Given the description of an element on the screen output the (x, y) to click on. 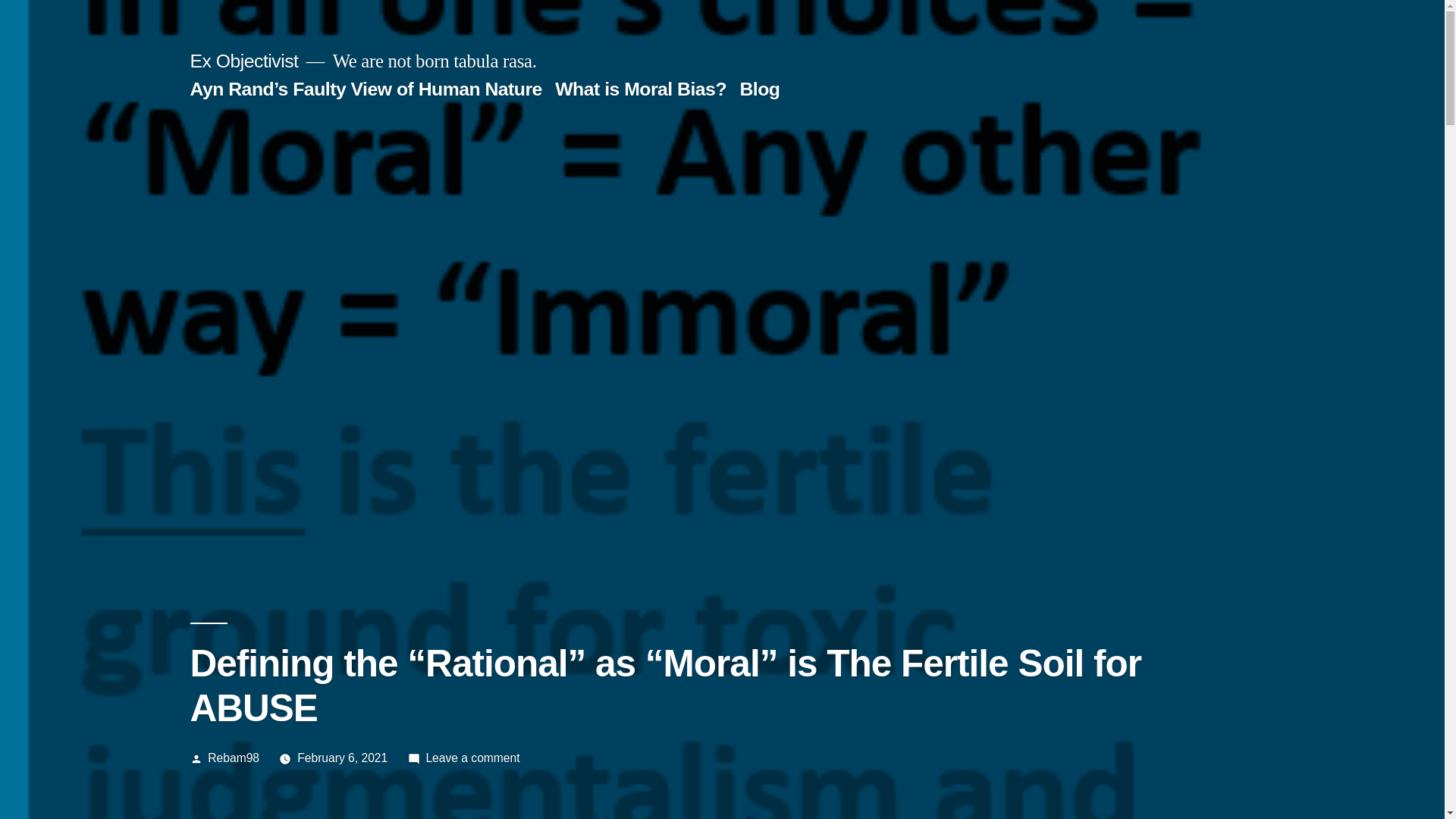
Rebam98 (233, 757)
February 6, 2021 (342, 757)
Blog (758, 88)
Ex Objectivist (243, 60)
What is Moral Bias? (640, 88)
